Given the description of an element on the screen output the (x, y) to click on. 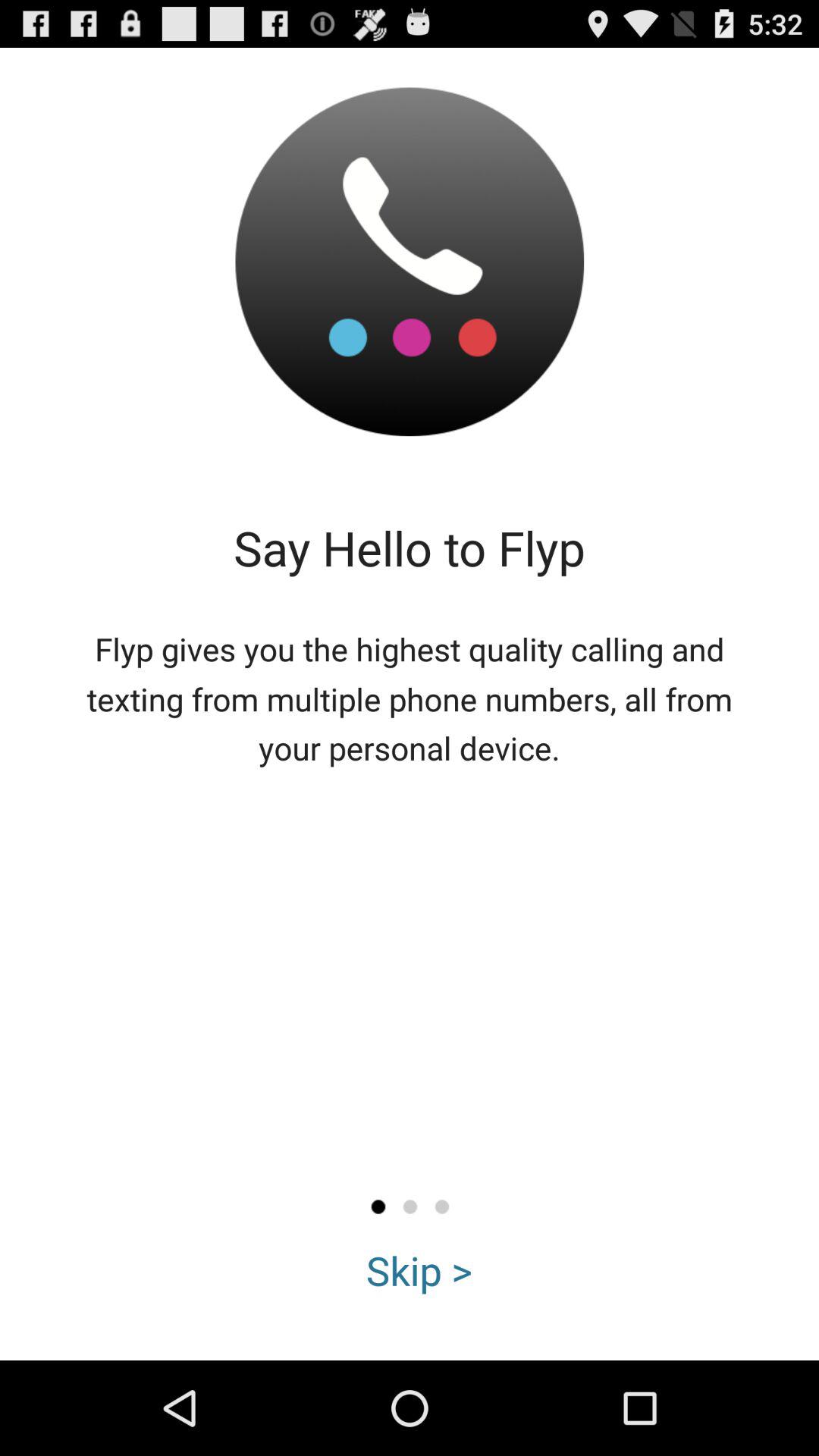
launch the skip > (419, 1269)
